Given the description of an element on the screen output the (x, y) to click on. 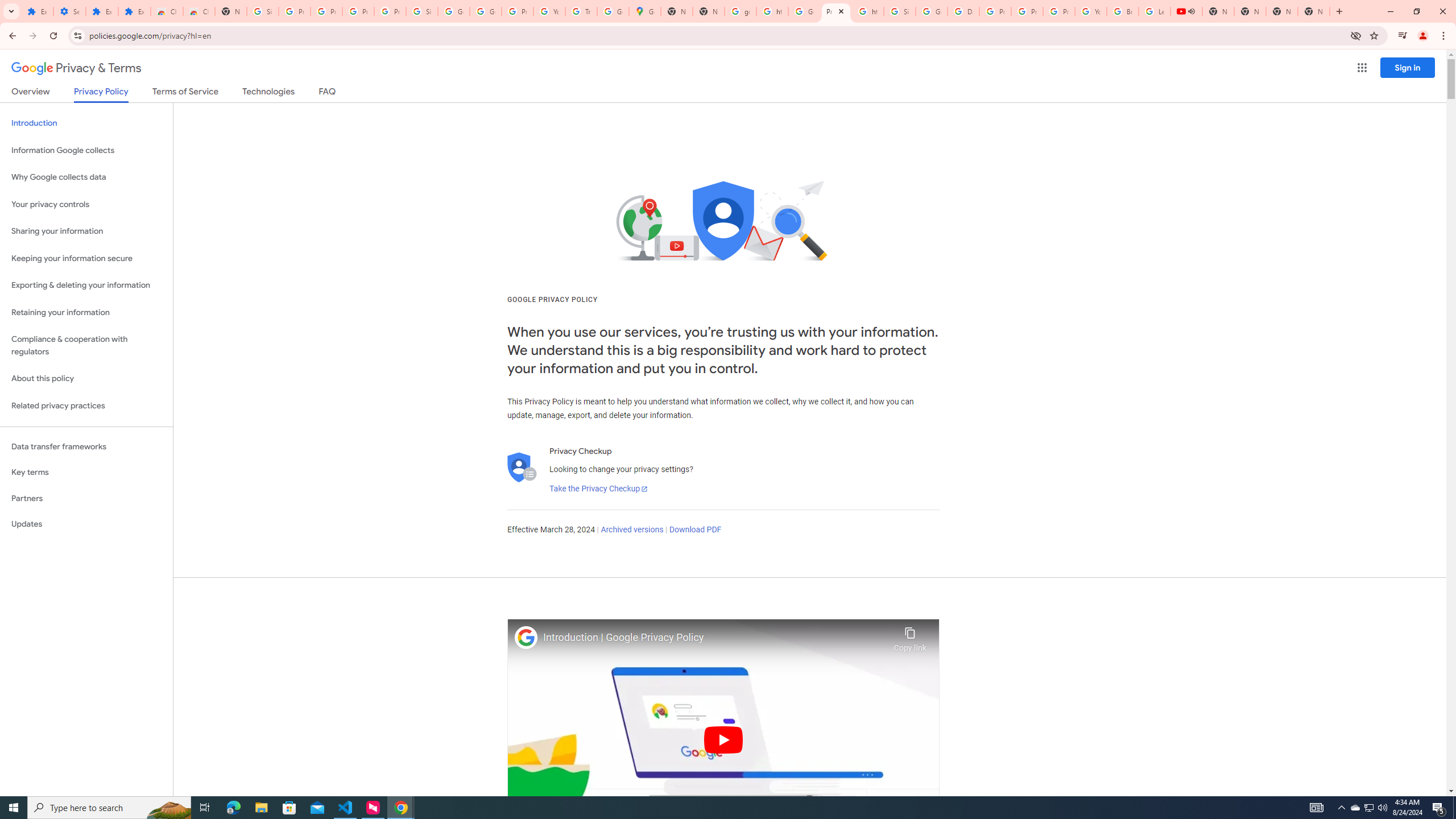
https://scholar.google.com/ (772, 11)
Download PDF (695, 529)
Compliance & cooperation with regulators (86, 345)
Sign in - Google Accounts (421, 11)
Chrome Web Store - Themes (198, 11)
https://scholar.google.com/ (868, 11)
Why Google collects data (86, 176)
